Given the description of an element on the screen output the (x, y) to click on. 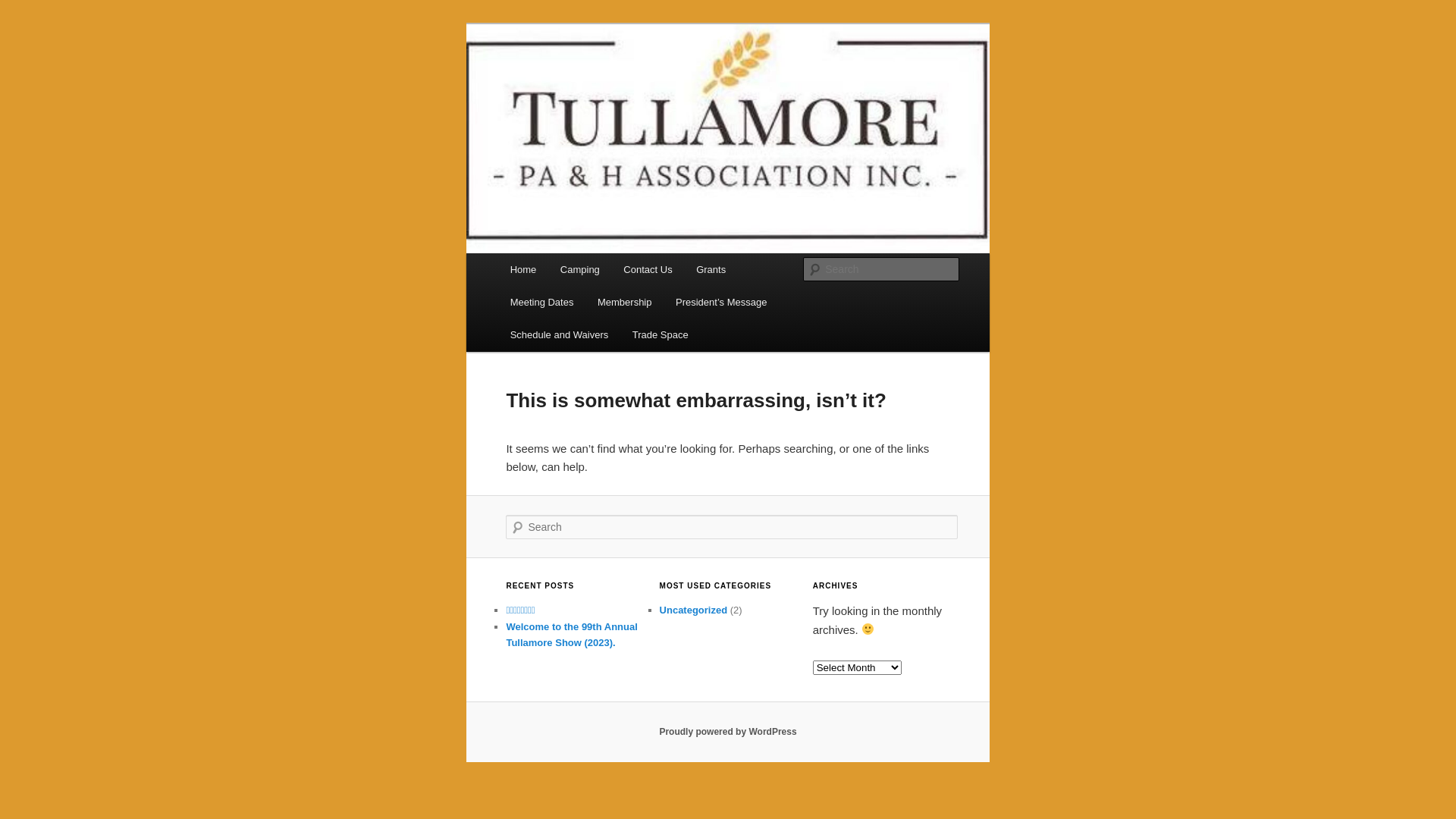
Welcome to the 99th Annual Tullamore Show (2023). Element type: text (571, 634)
Tullamore Show Element type: text (592, 78)
Search Element type: text (24, 8)
Uncategorized Element type: text (693, 609)
Trade Space Element type: text (659, 334)
Meeting Dates Element type: text (541, 301)
Contact Us Element type: text (647, 269)
Skip to primary content Element type: text (22, 22)
Home Element type: text (523, 269)
Proudly powered by WordPress Element type: text (727, 731)
Membership Element type: text (624, 301)
Schedule and Waivers Element type: text (559, 334)
Camping Element type: text (579, 269)
Grants Element type: text (710, 269)
